Given the description of an element on the screen output the (x, y) to click on. 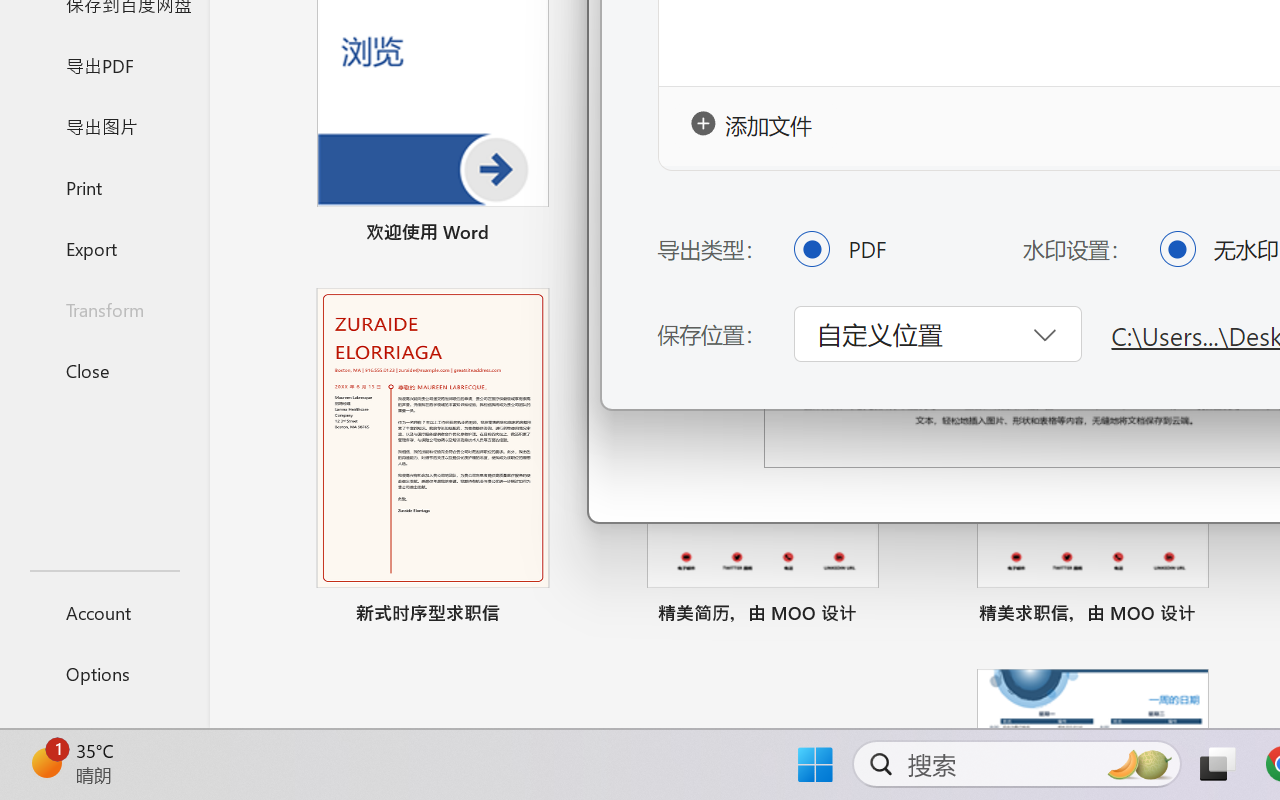
PDF (811, 248)
Transform (104, 309)
Export (104, 248)
Print (104, 186)
